Given the description of an element on the screen output the (x, y) to click on. 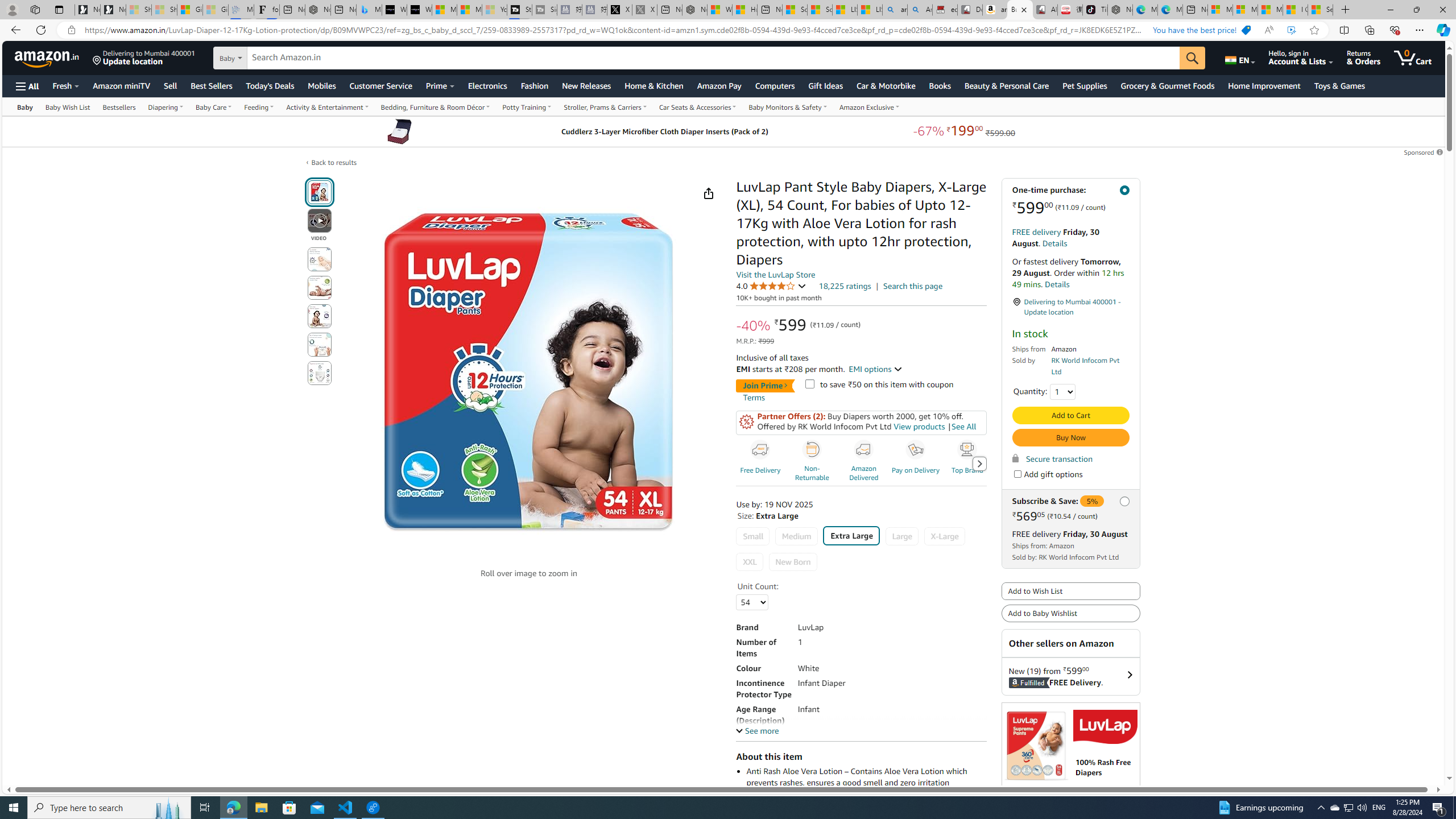
Add to Baby Wishlist (1070, 613)
Search this page (912, 285)
Add to Cart (1069, 415)
Amazon miniTV (121, 85)
TikTok (1094, 9)
Electronics (486, 85)
Free Delivery (761, 462)
